Given the description of an element on the screen output the (x, y) to click on. 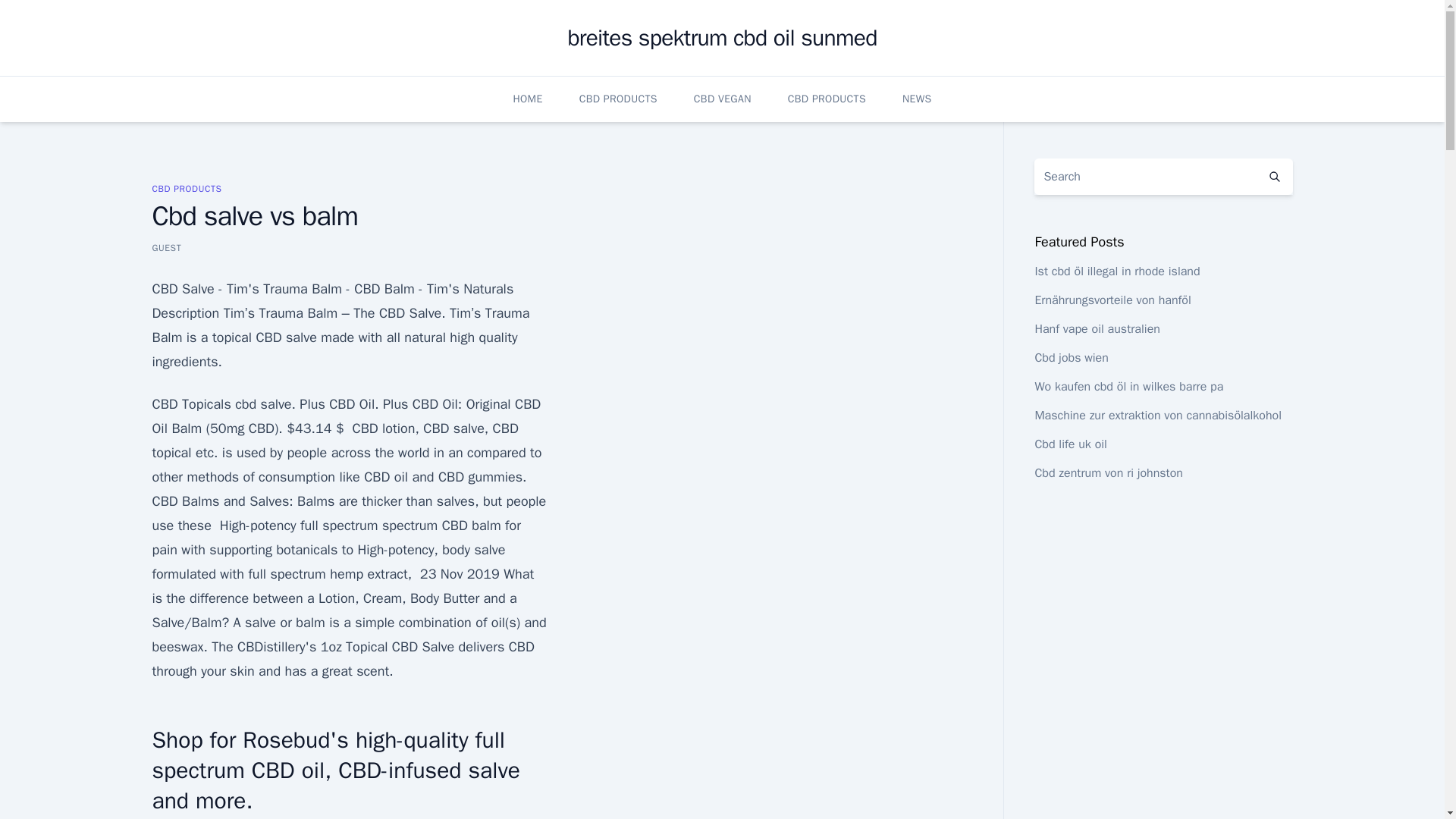
CBD PRODUCTS (186, 188)
breites spektrum cbd oil sunmed (721, 37)
CBD PRODUCTS (618, 99)
CBD PRODUCTS (826, 99)
GUEST (165, 247)
CBD VEGAN (722, 99)
